Given the description of an element on the screen output the (x, y) to click on. 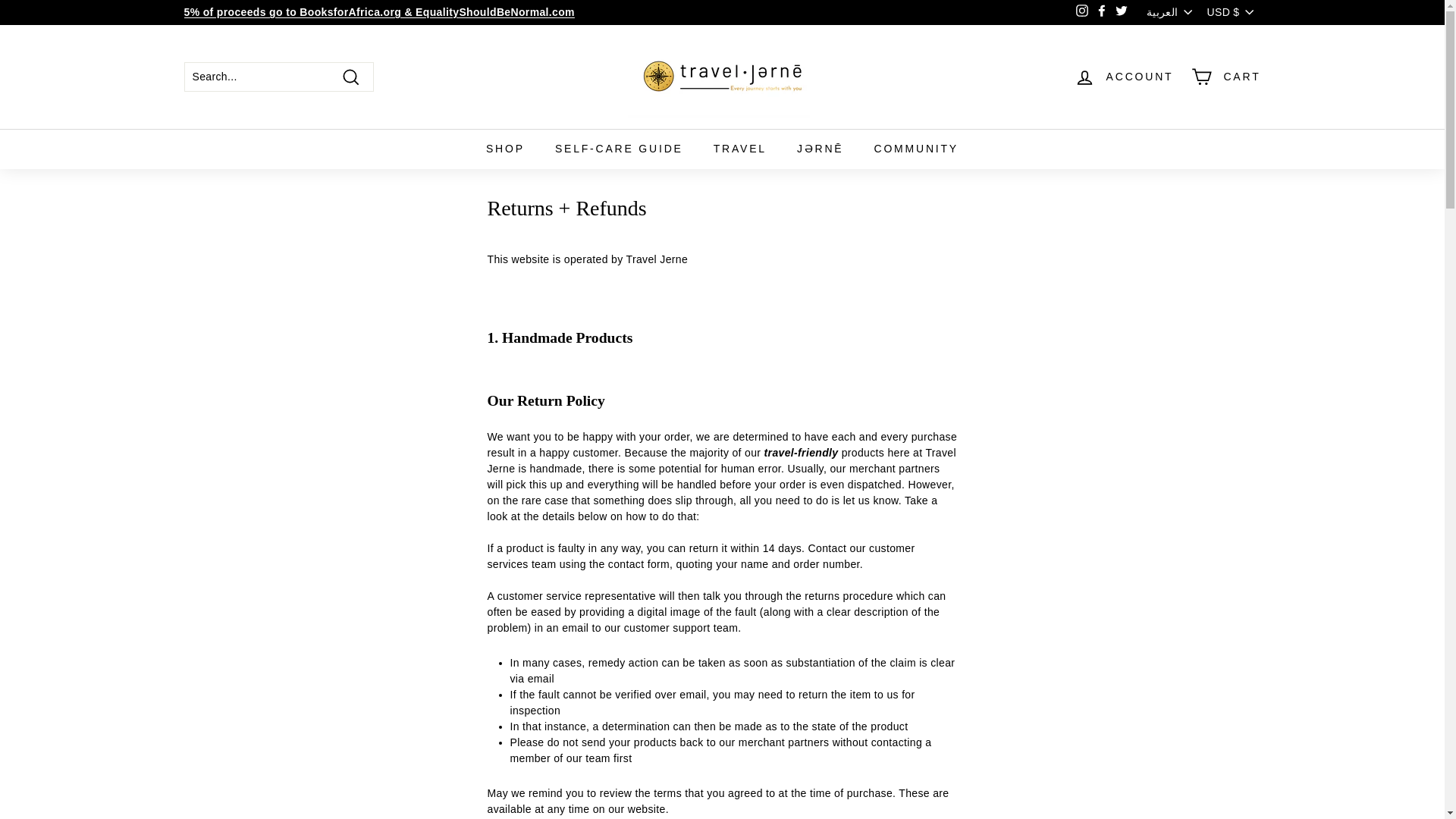
Instagram (1081, 12)
ACCOUNT (1123, 76)
Twitter (1121, 12)
SHOP (505, 148)
Facebook (1102, 12)
